Given the description of an element on the screen output the (x, y) to click on. 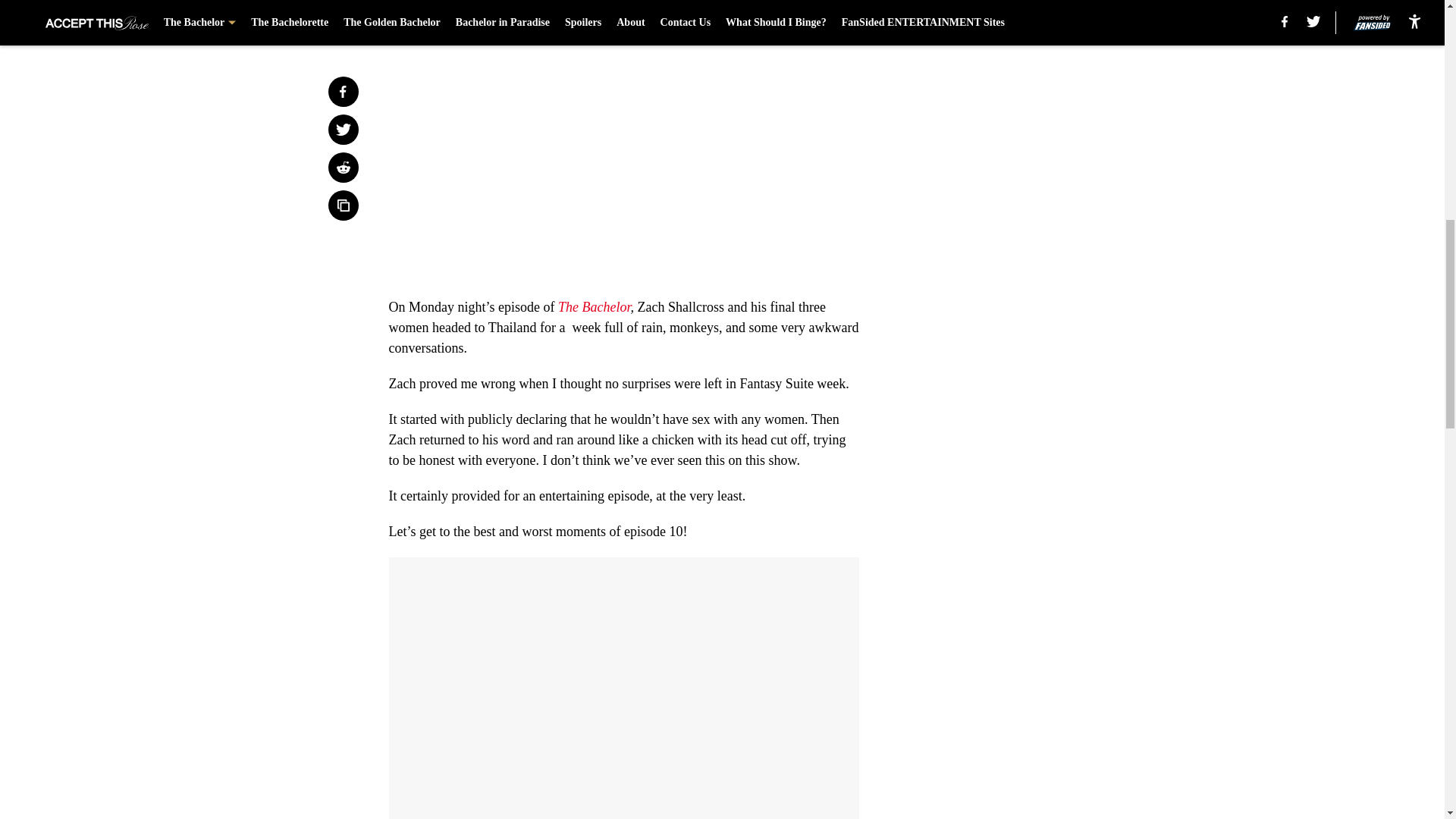
The Bachelor (593, 306)
